Given the description of an element on the screen output the (x, y) to click on. 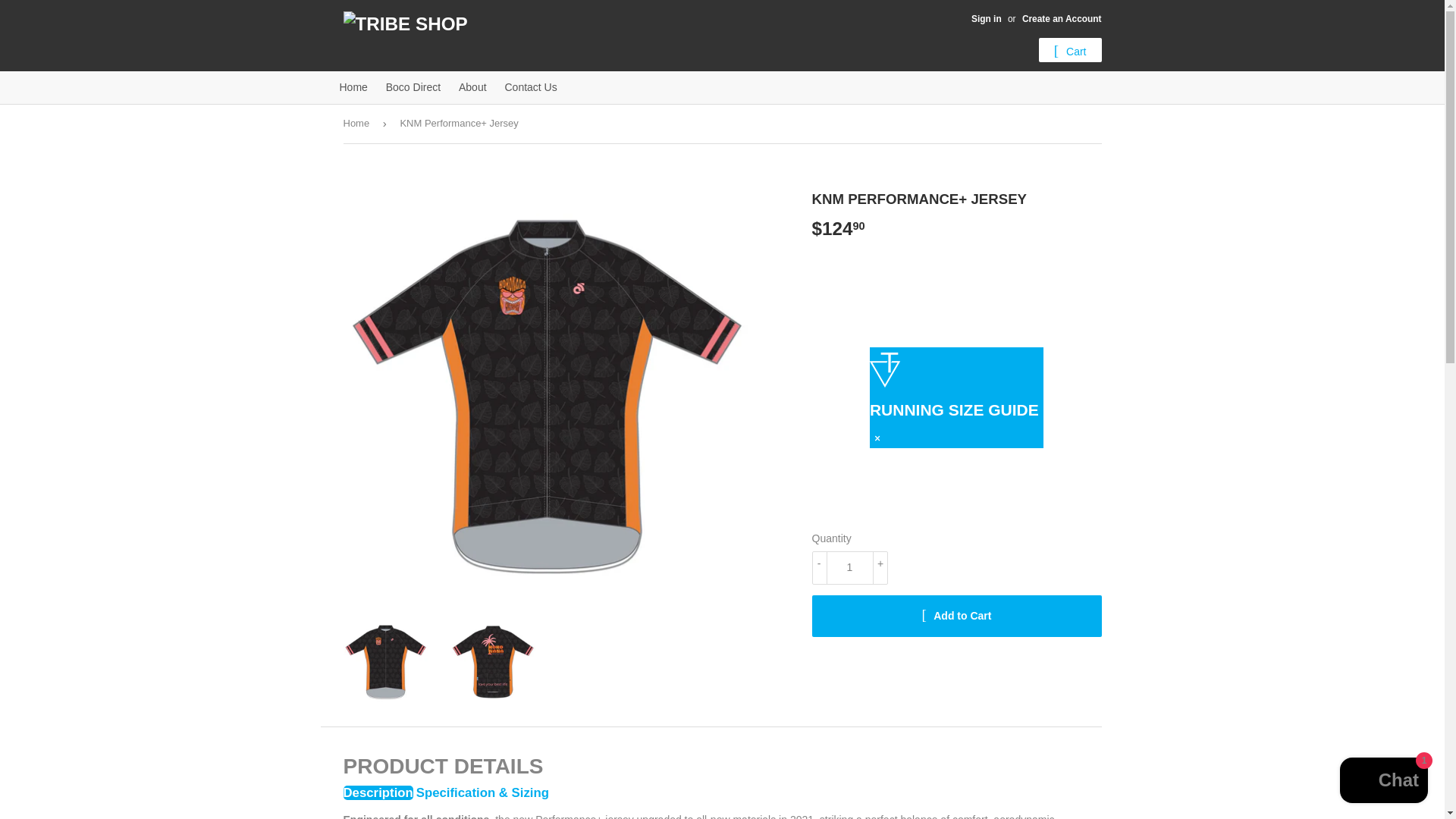
Add to Cart (955, 616)
Shopify online store chat (1383, 781)
1 (848, 567)
About (473, 87)
Create an Account (1062, 18)
Boco Direct (413, 87)
Sign in (986, 18)
Description (377, 792)
Cart (1070, 49)
Home (353, 87)
Contact Us (530, 87)
